Given the description of an element on the screen output the (x, y) to click on. 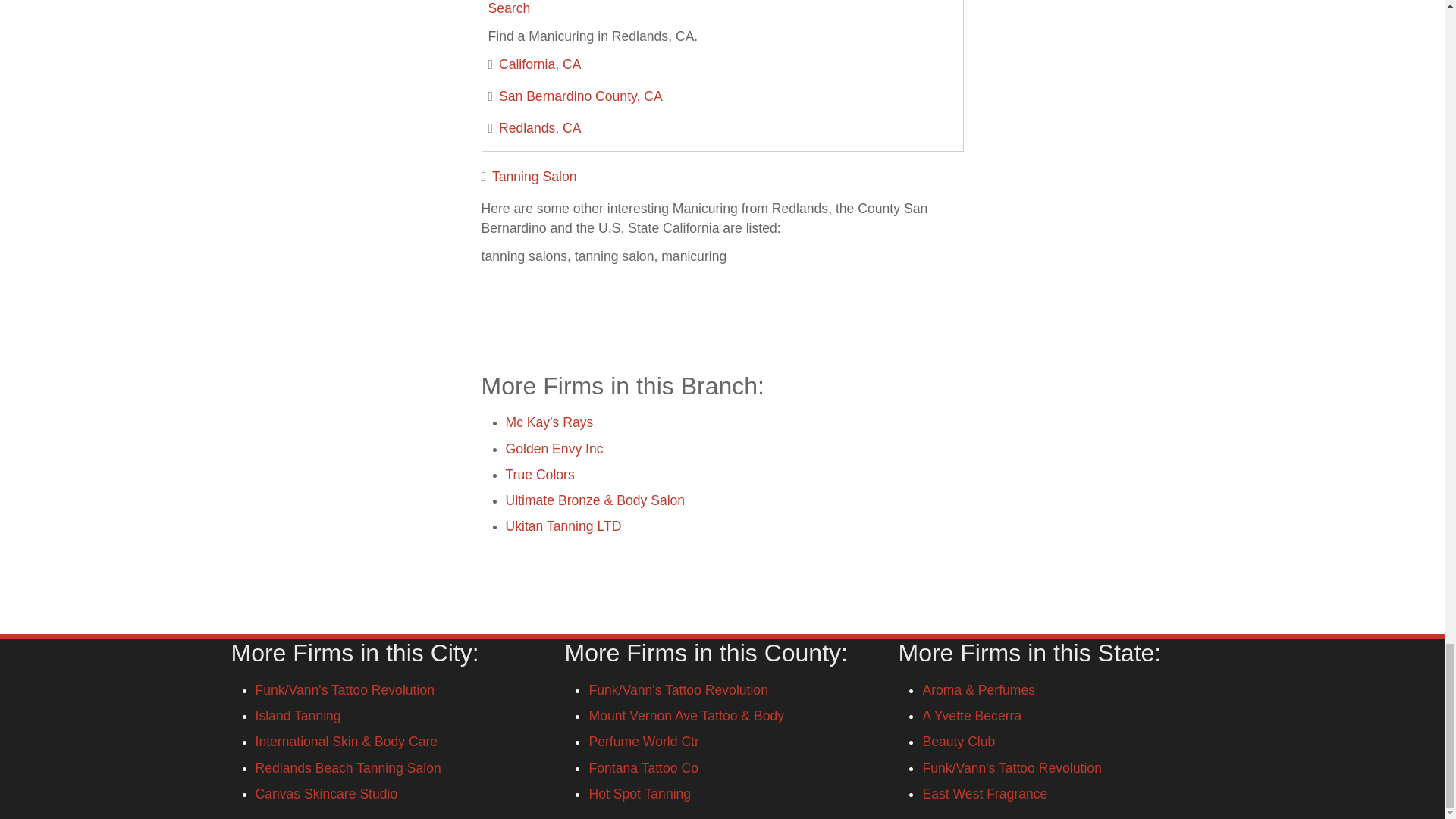
Tanning Salon (534, 176)
Golden Envy Inc (553, 448)
Mc Kay's Rays (548, 421)
Ukitan Tanning LTD (563, 525)
San Bernardino County, CA (580, 96)
Redlands, CA (539, 127)
Search (509, 7)
California, CA (539, 64)
True Colors (539, 474)
